Given the description of an element on the screen output the (x, y) to click on. 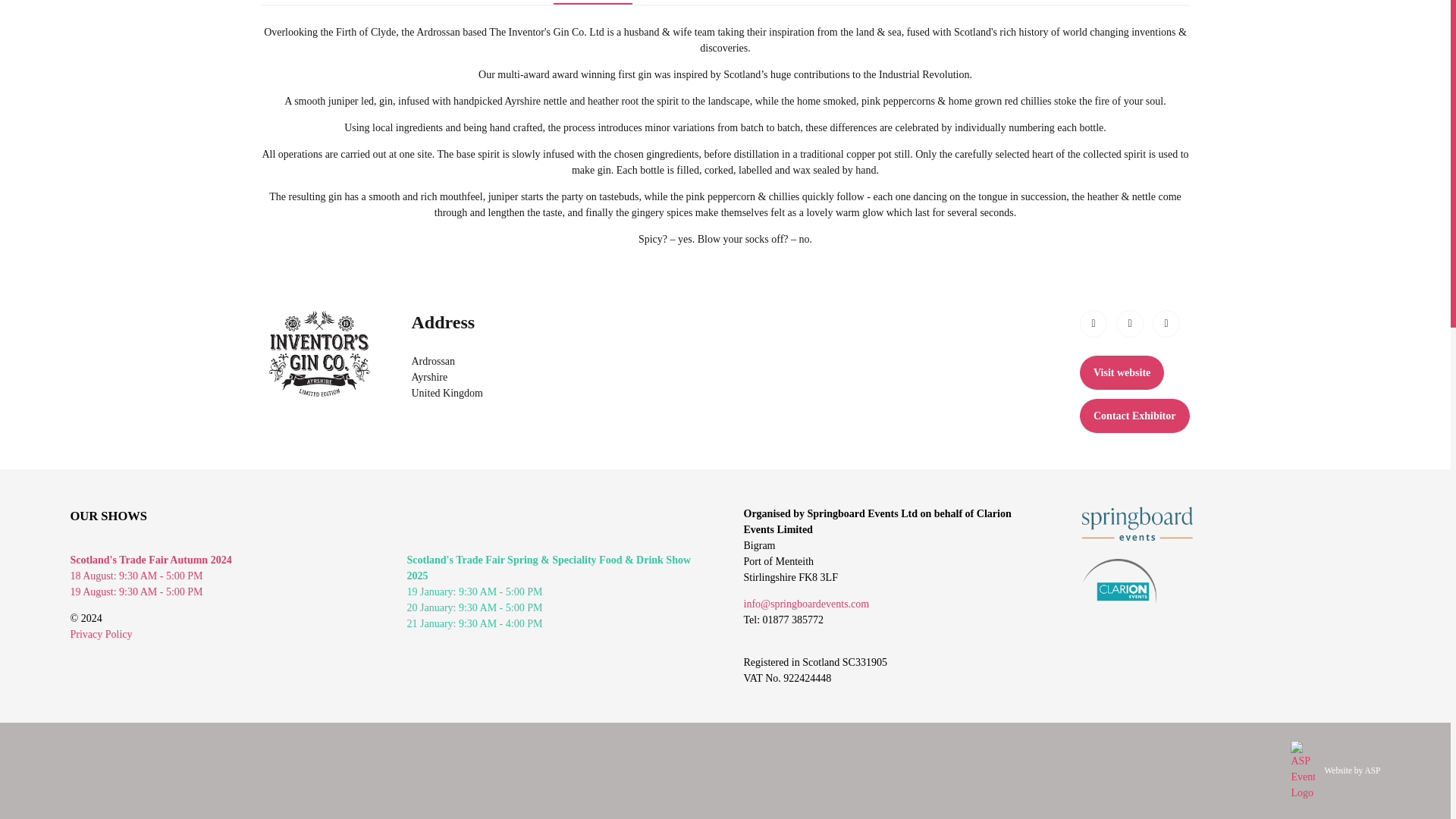
Overview (592, 2)
Press Releases (844, 2)
Products (679, 2)
Visit website (1121, 372)
Video (754, 2)
